Given the description of an element on the screen output the (x, y) to click on. 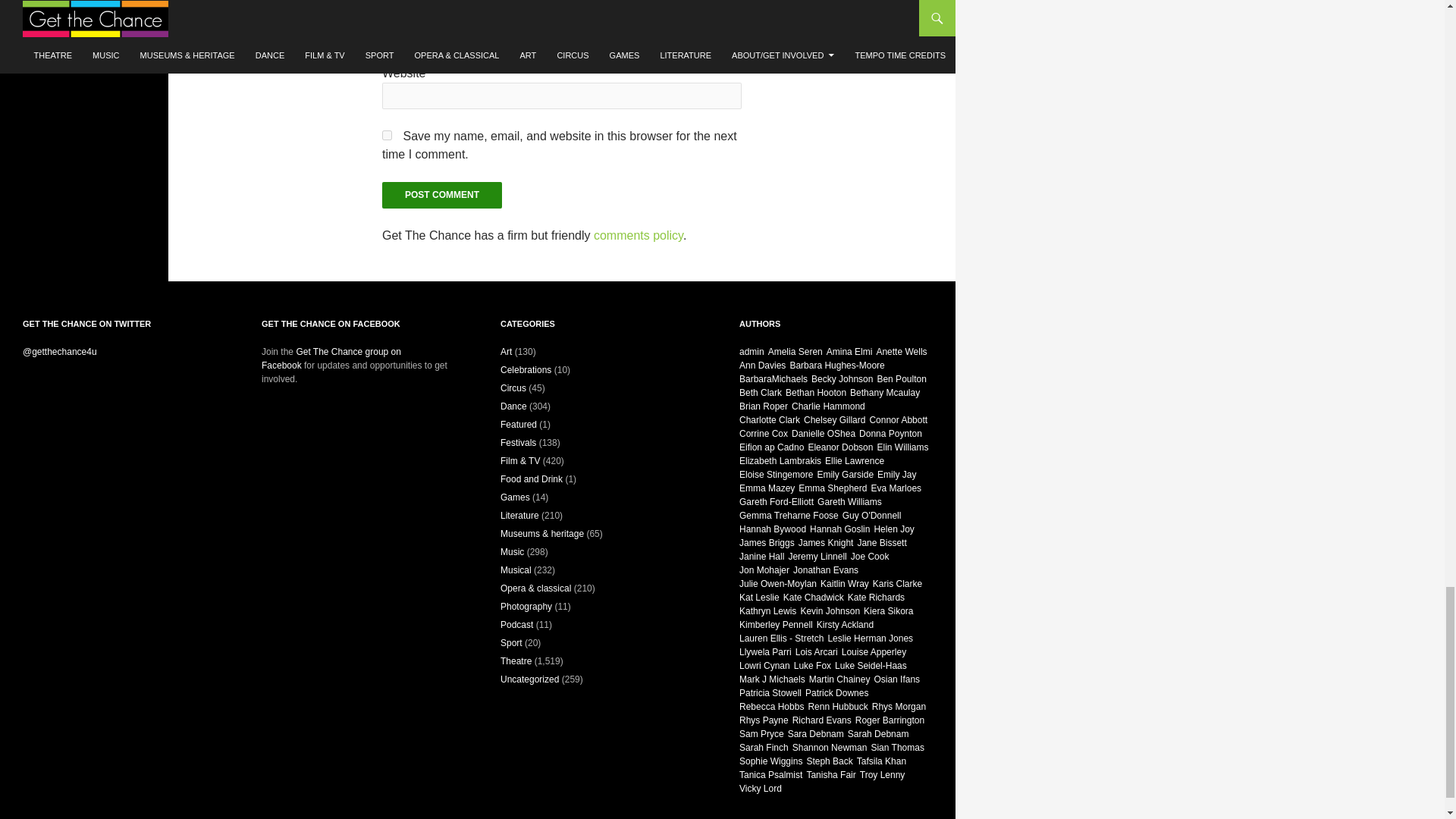
Posts by Ben Poulton (901, 378)
Posts by Anette Wells (901, 351)
Post Comment (441, 194)
Posts by Becky Johnson (841, 378)
Posts by Bethany Mcaulay (885, 392)
Post Comment (441, 194)
yes (386, 135)
Posts by Beth Clark (760, 392)
Posts by Barbara Hughes-Moore (836, 365)
comments policy (638, 235)
